Given the description of an element on the screen output the (x, y) to click on. 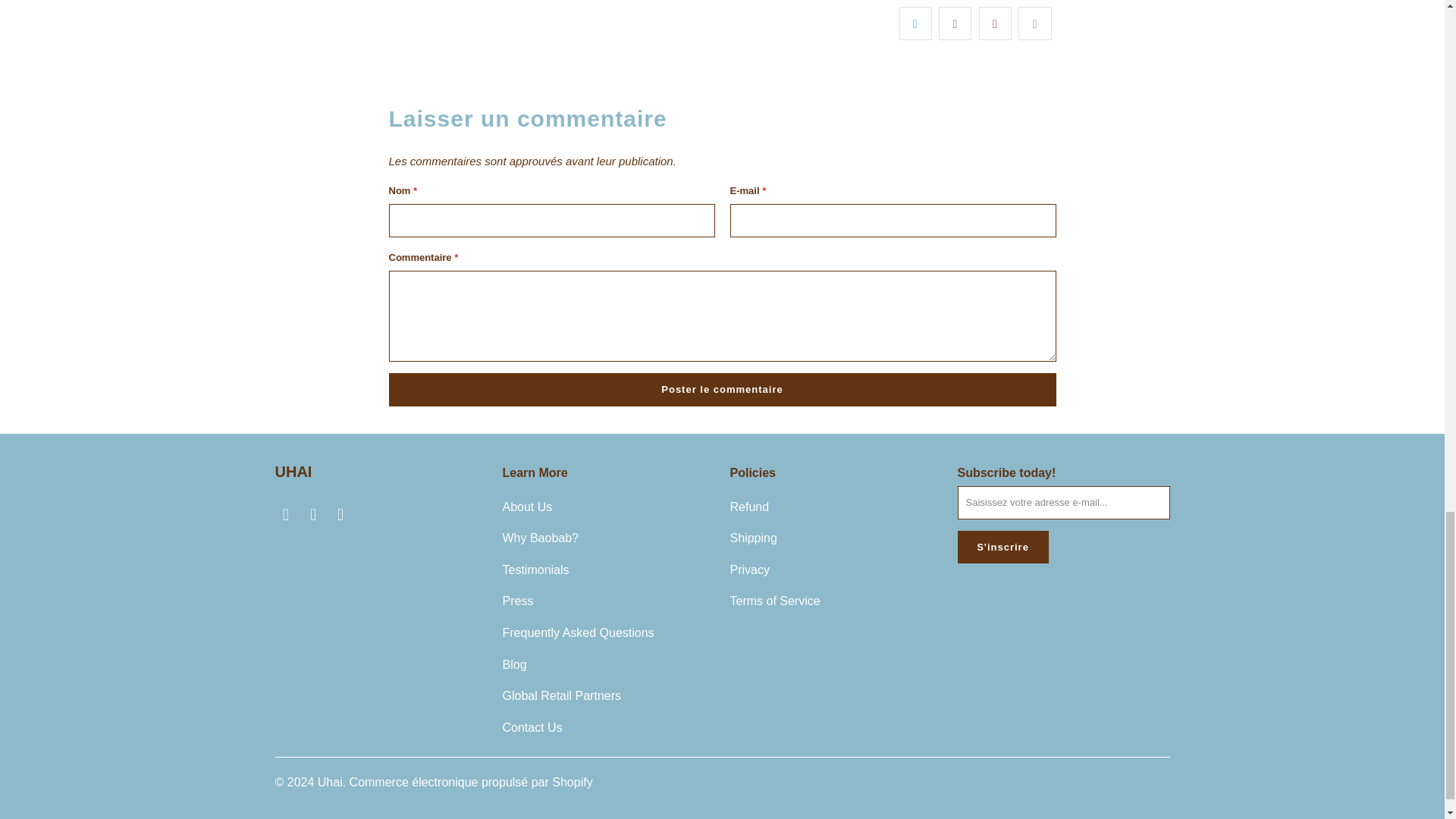
Uhai on Twitter (286, 515)
Partagez ceci sur Facebook (955, 23)
Poster le commentaire (721, 389)
Partagez ceci sur Pinterest (994, 23)
Partagez ceci sur Twitter (915, 23)
S'inscrire (1002, 547)
Uhai on Instagram (341, 515)
Uhai on Facebook (313, 515)
